Given the description of an element on the screen output the (x, y) to click on. 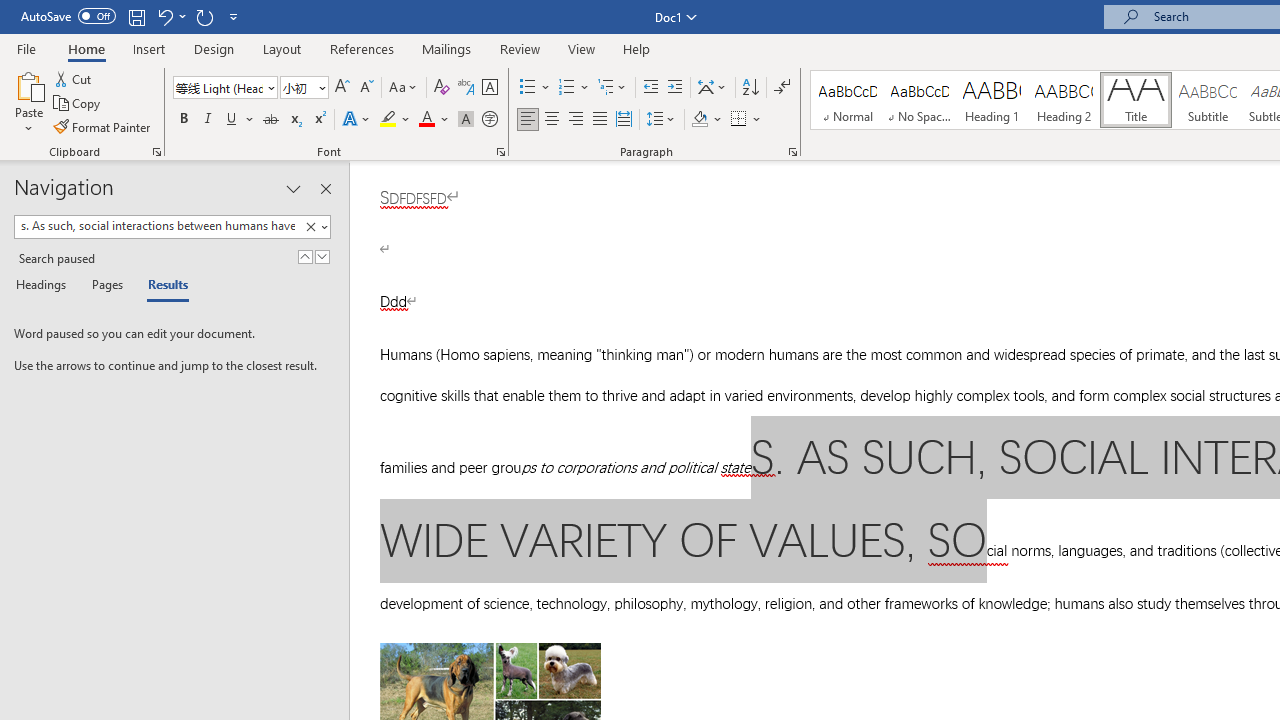
Undo Style (164, 15)
Title (1135, 100)
